Given the description of an element on the screen output the (x, y) to click on. 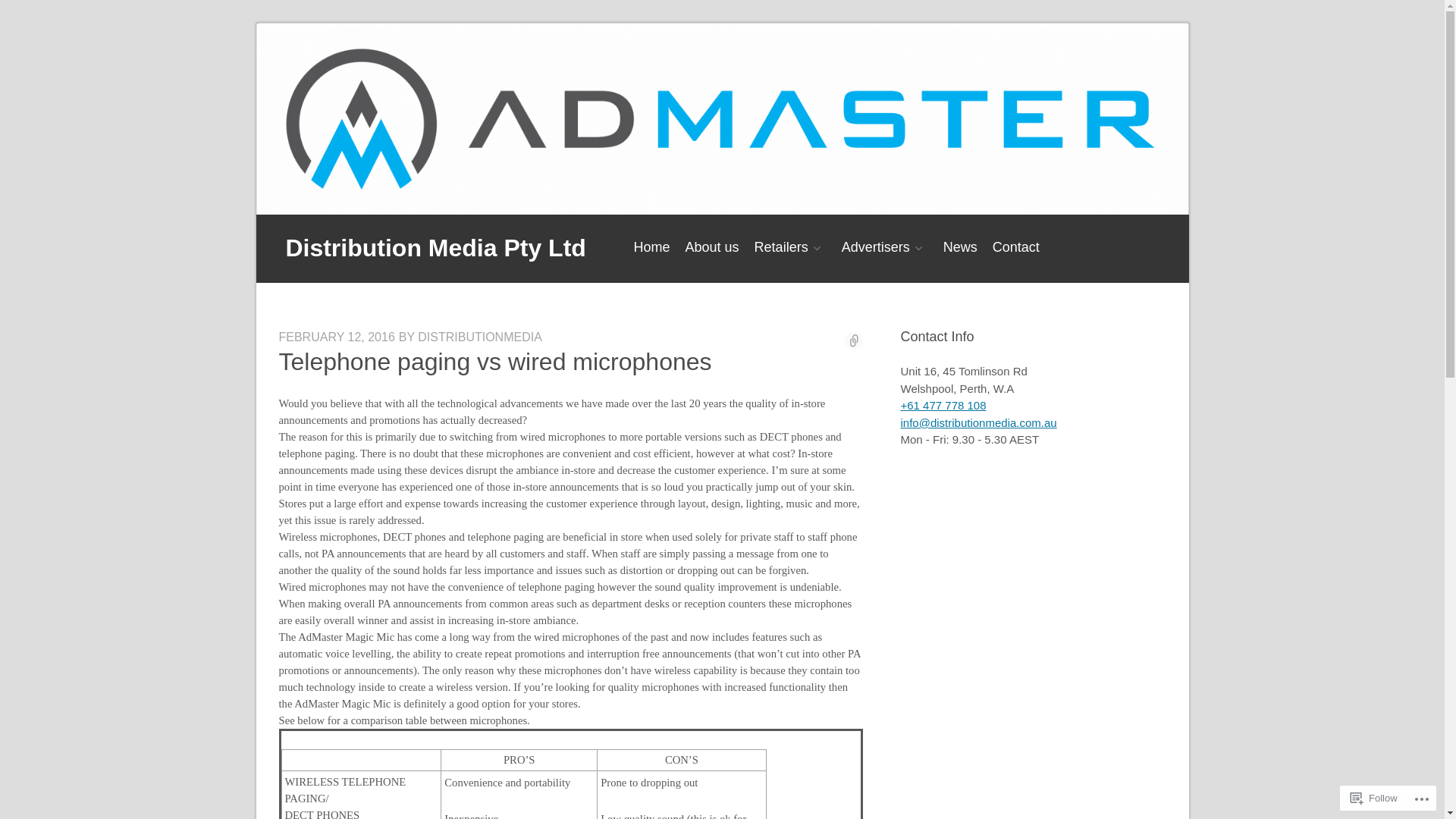
FEBRUARY 12, 2016 Element type: text (337, 336)
DISTRIBUTIONMEDIA Element type: text (479, 336)
+61 477 778 108 Element type: text (943, 404)
About us Element type: text (712, 246)
Advertisers Element type: text (884, 246)
News Element type: text (960, 246)
Contact Element type: text (1015, 246)
Follow Element type: text (1373, 797)
info@distributionmedia.com.au Element type: text (978, 422)
Home Element type: text (651, 246)
Retailers Element type: text (790, 246)
